Given the description of an element on the screen output the (x, y) to click on. 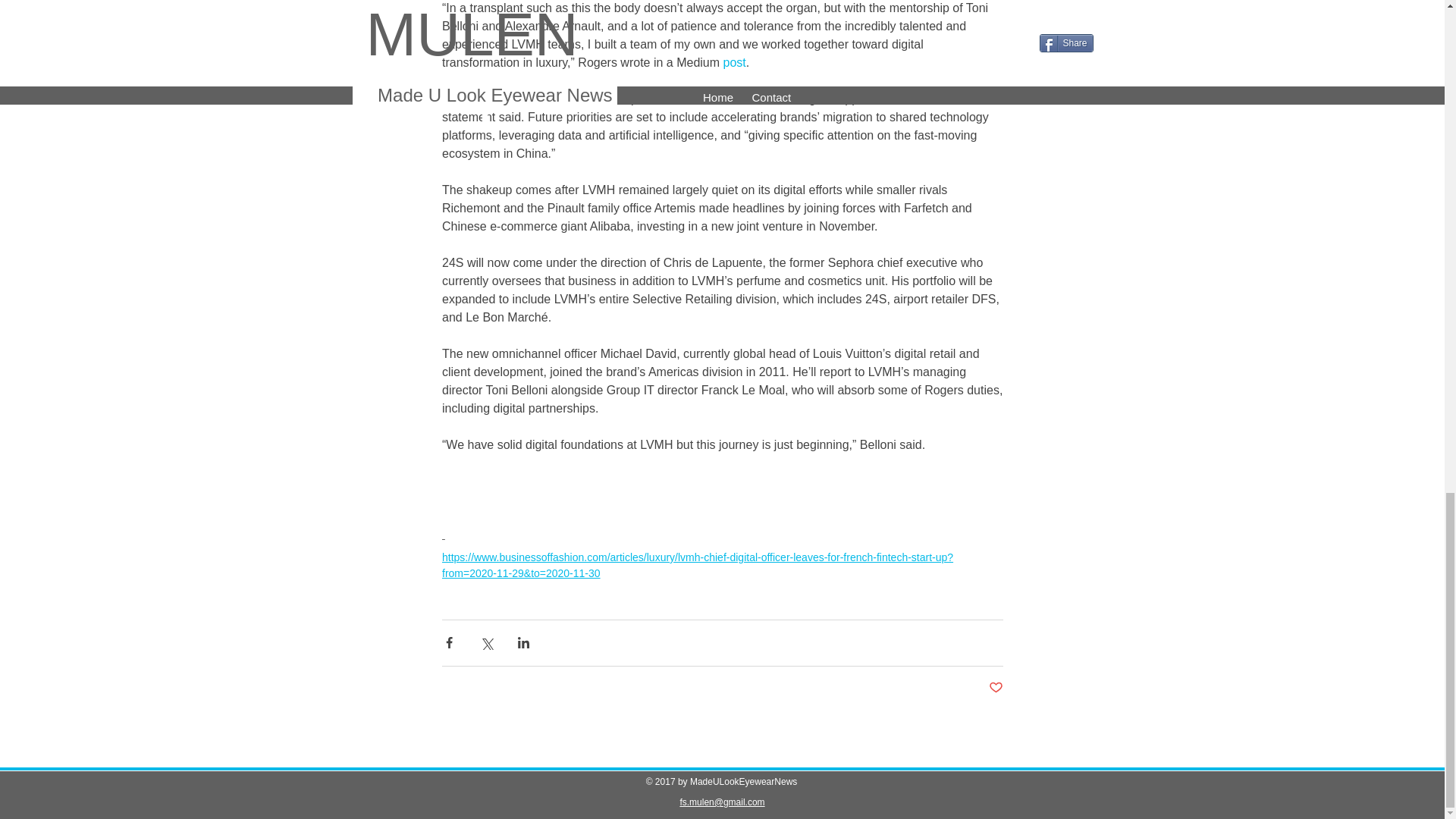
Post not marked as liked (995, 688)
post (733, 62)
